Given the description of an element on the screen output the (x, y) to click on. 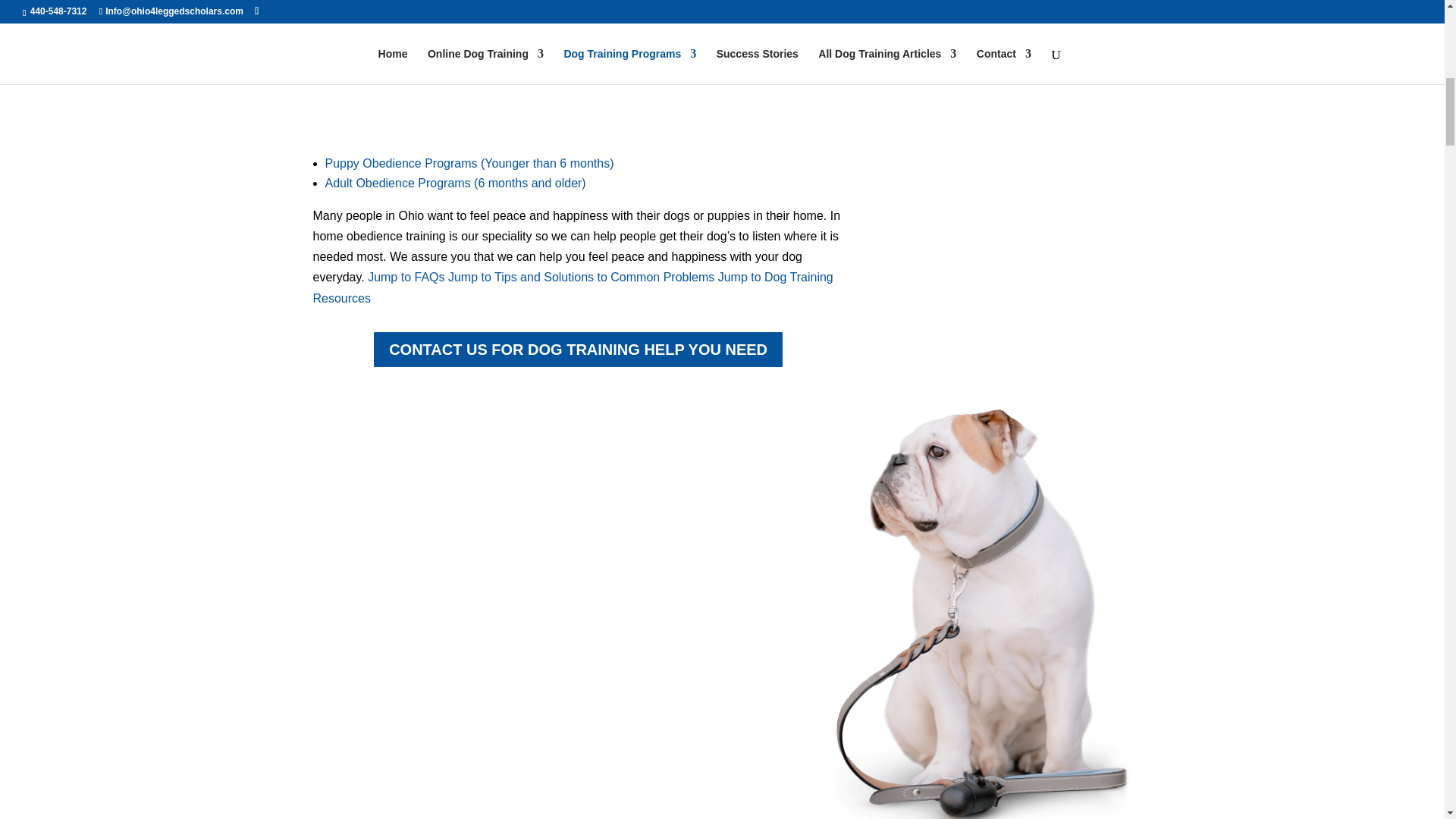
Jump to FAQs (406, 277)
CONTACT US FOR DOG TRAINING HELP YOU NEED (578, 349)
Jump to Tips and Solutions to Common Problems (581, 277)
Jump to Dog Training Resources (572, 287)
